Given the description of an element on the screen output the (x, y) to click on. 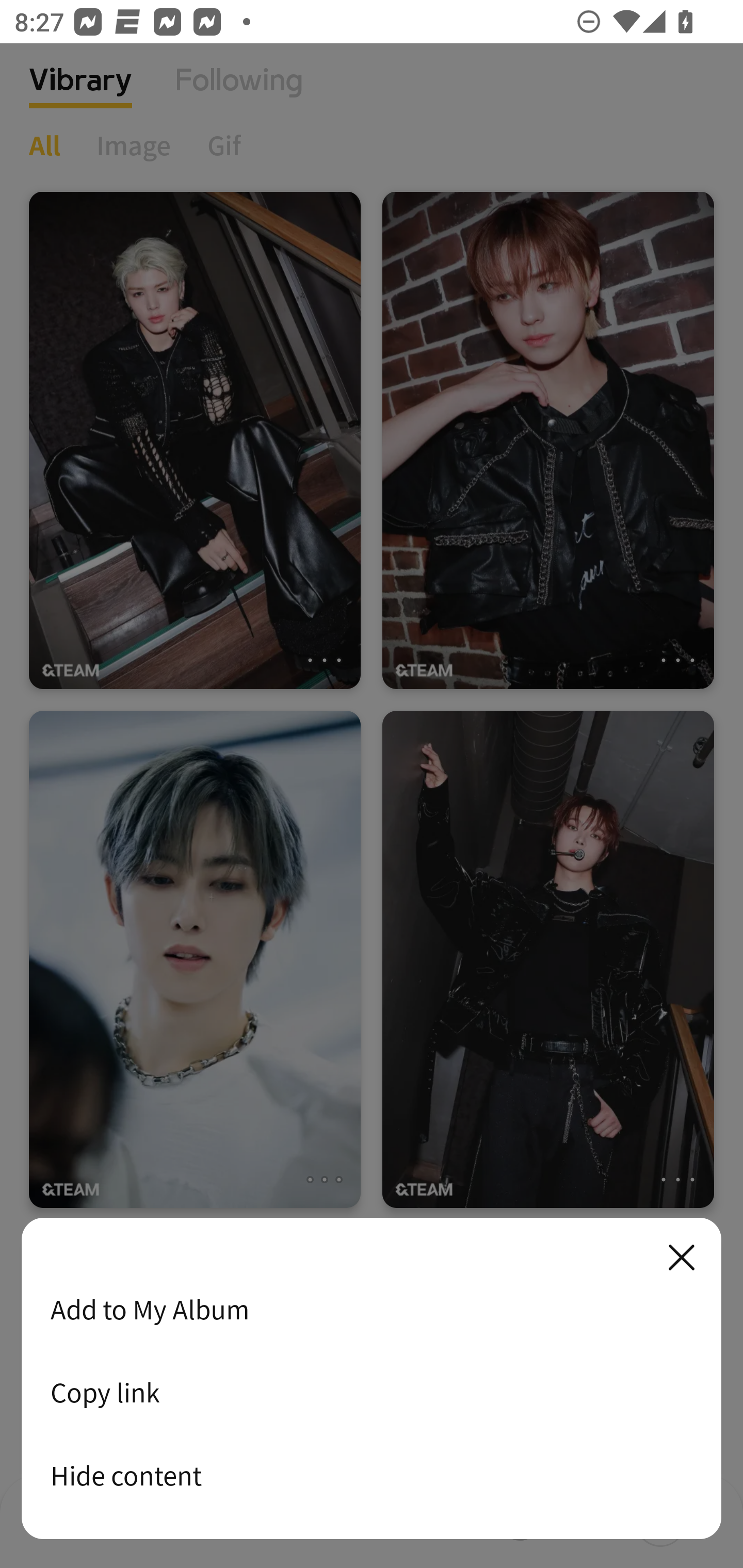
Add to My Album Copy link Hide content (371, 1378)
Add to My Album (371, 1308)
Copy link (371, 1391)
Hide content (371, 1474)
